Given the description of an element on the screen output the (x, y) to click on. 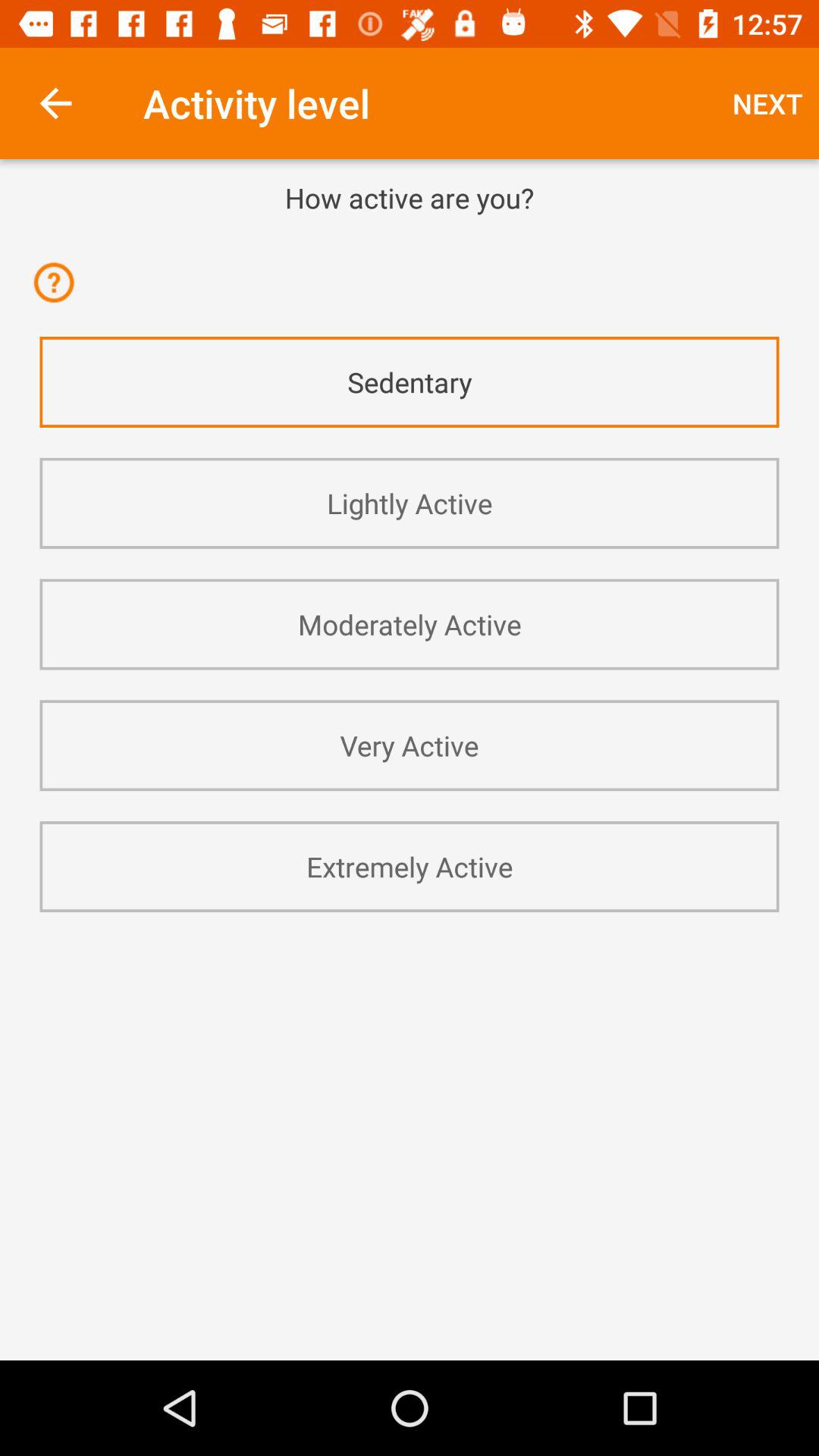
open app above the sedentary icon (58, 292)
